Given the description of an element on the screen output the (x, y) to click on. 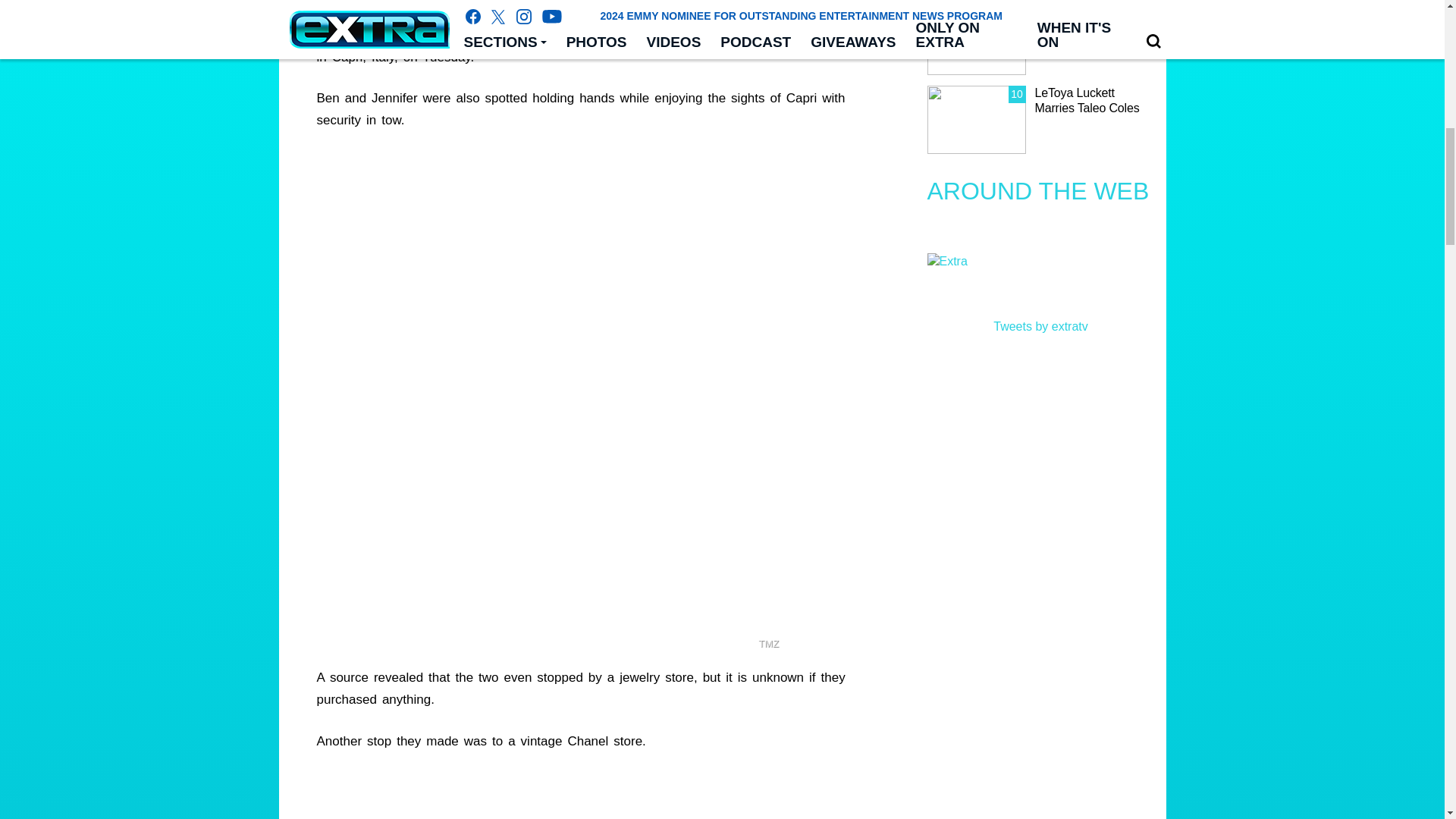
iframe embed (603, 795)
